Given the description of an element on the screen output the (x, y) to click on. 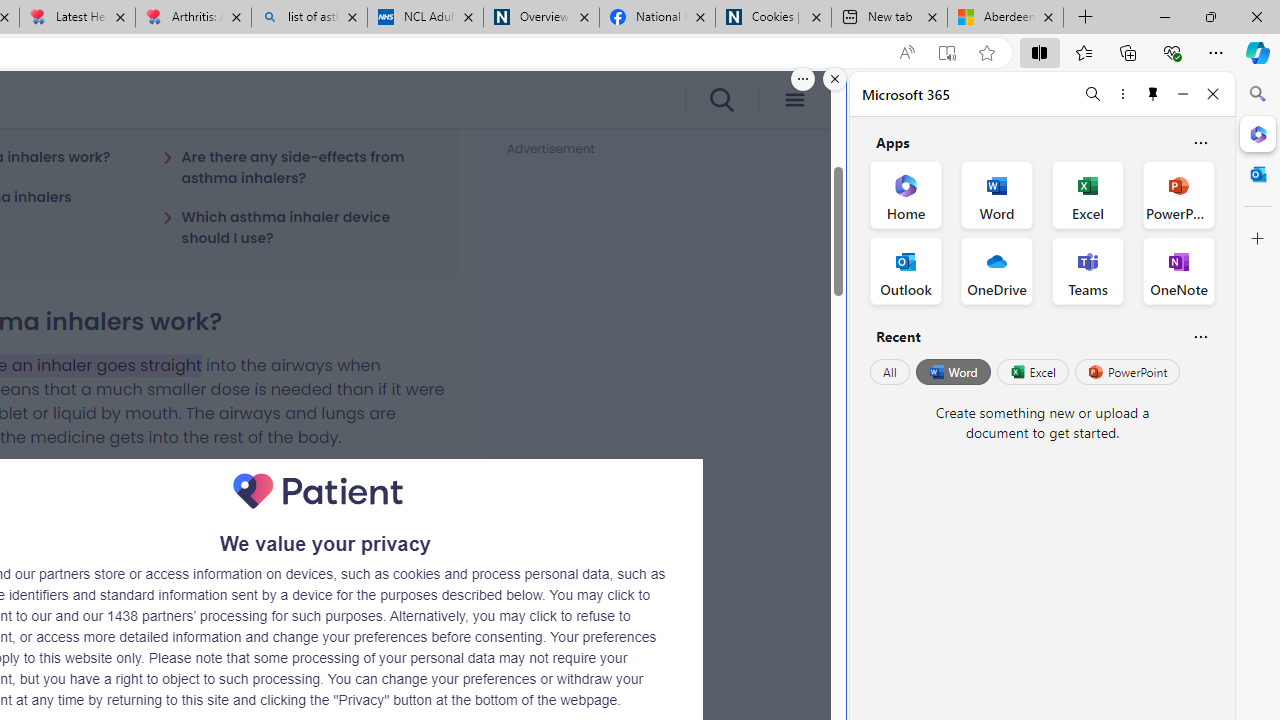
Outlook Office App (906, 270)
Word (952, 372)
Publisher Logo (317, 491)
menu icon (793, 99)
Excel Office App (1087, 194)
More options (1122, 93)
Enter Immersive Reader (F9) (946, 53)
Close Outlook pane (1258, 174)
